Given the description of an element on the screen output the (x, y) to click on. 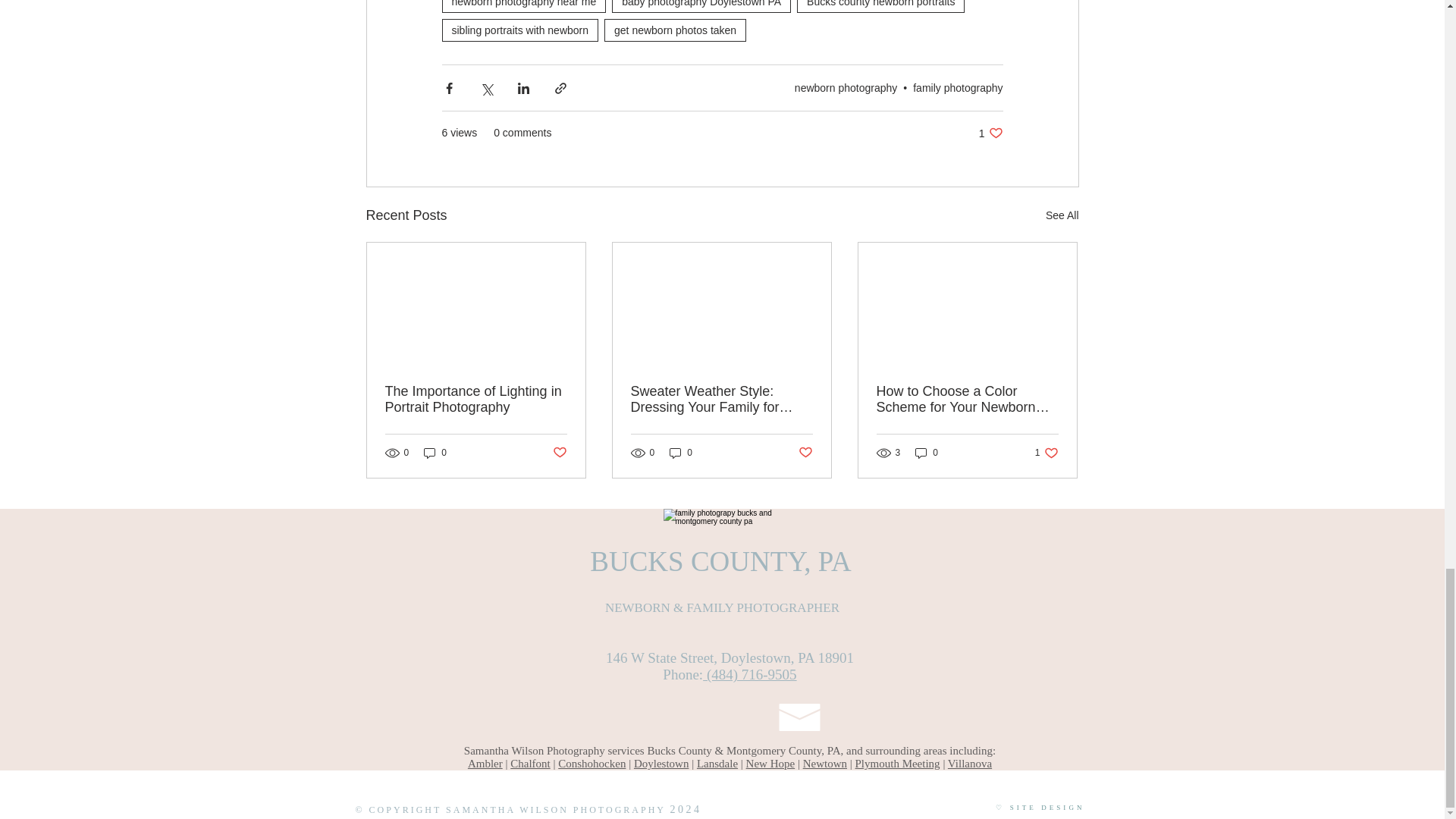
baby photography Doylestown PA (700, 6)
Bucks county newborn portraits (879, 6)
newborn photography near me (523, 6)
get newborn photos taken (674, 29)
sibling portraits with newborn (519, 29)
